Given the description of an element on the screen output the (x, y) to click on. 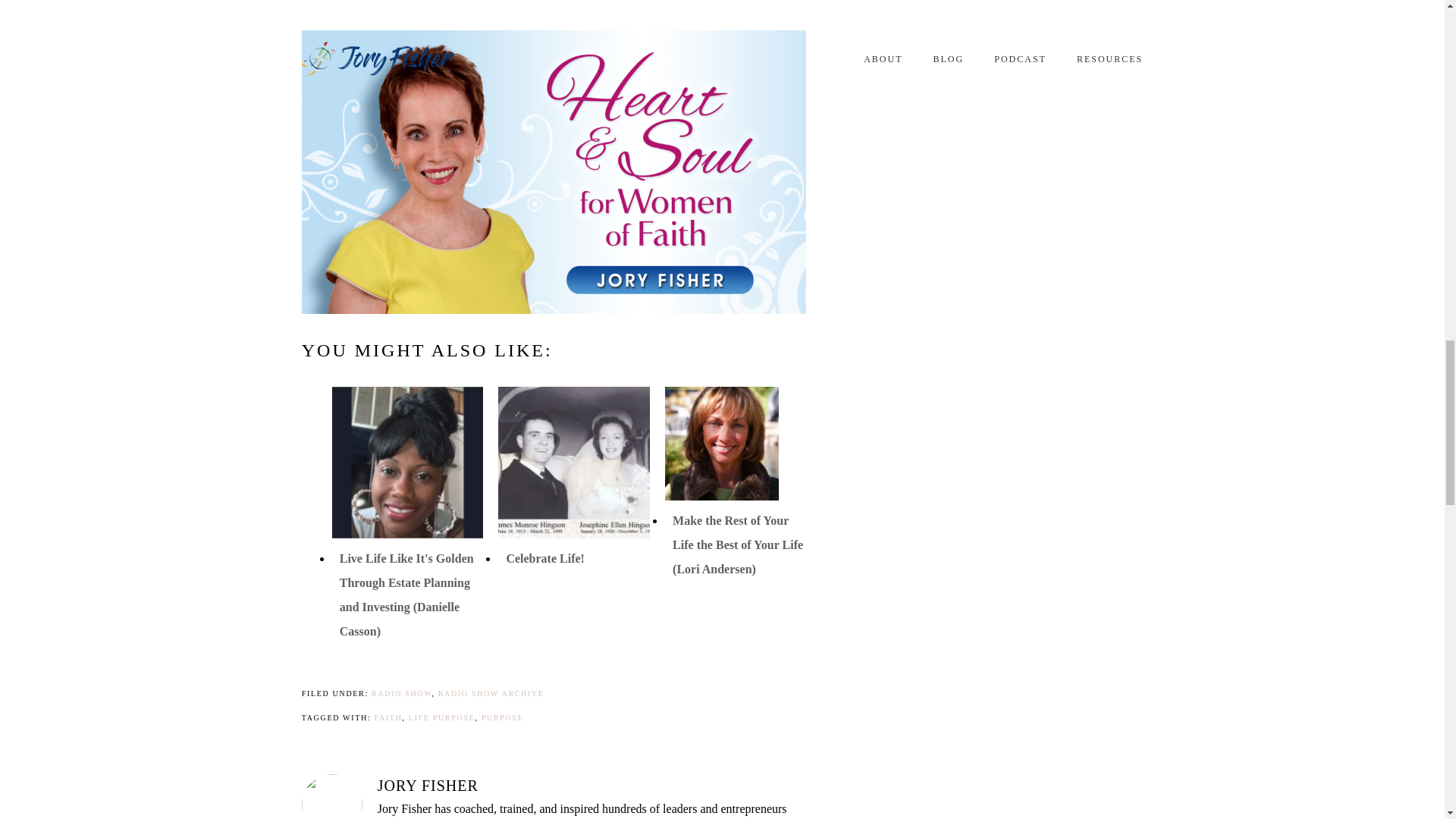
PURPOSE (502, 717)
FAITH (387, 717)
LIFE PURPOSE (442, 717)
RADIO SHOW ARCHIVE (491, 693)
Celebrate Life! (545, 558)
RADIO SHOW (400, 693)
